Given the description of an element on the screen output the (x, y) to click on. 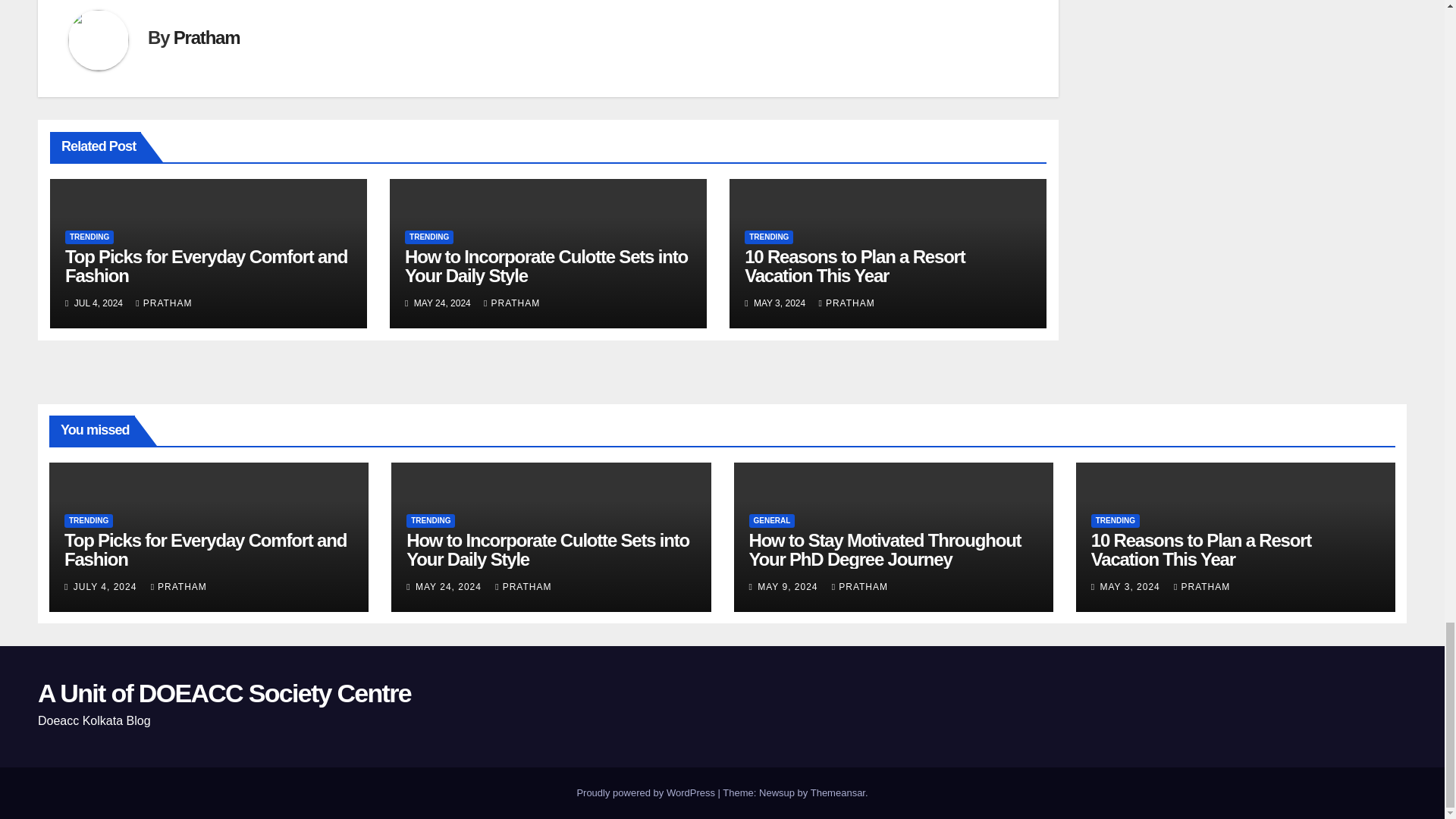
TRENDING (428, 237)
Permalink to: Top Picks for Everyday Comfort and Fashion (206, 265)
TRENDING (89, 237)
Pratham (206, 37)
How to Incorporate Culotte Sets into Your Daily Style (545, 265)
PRATHAM (163, 303)
Permalink to: Top Picks for Everyday Comfort and Fashion (205, 549)
